Given the description of an element on the screen output the (x, y) to click on. 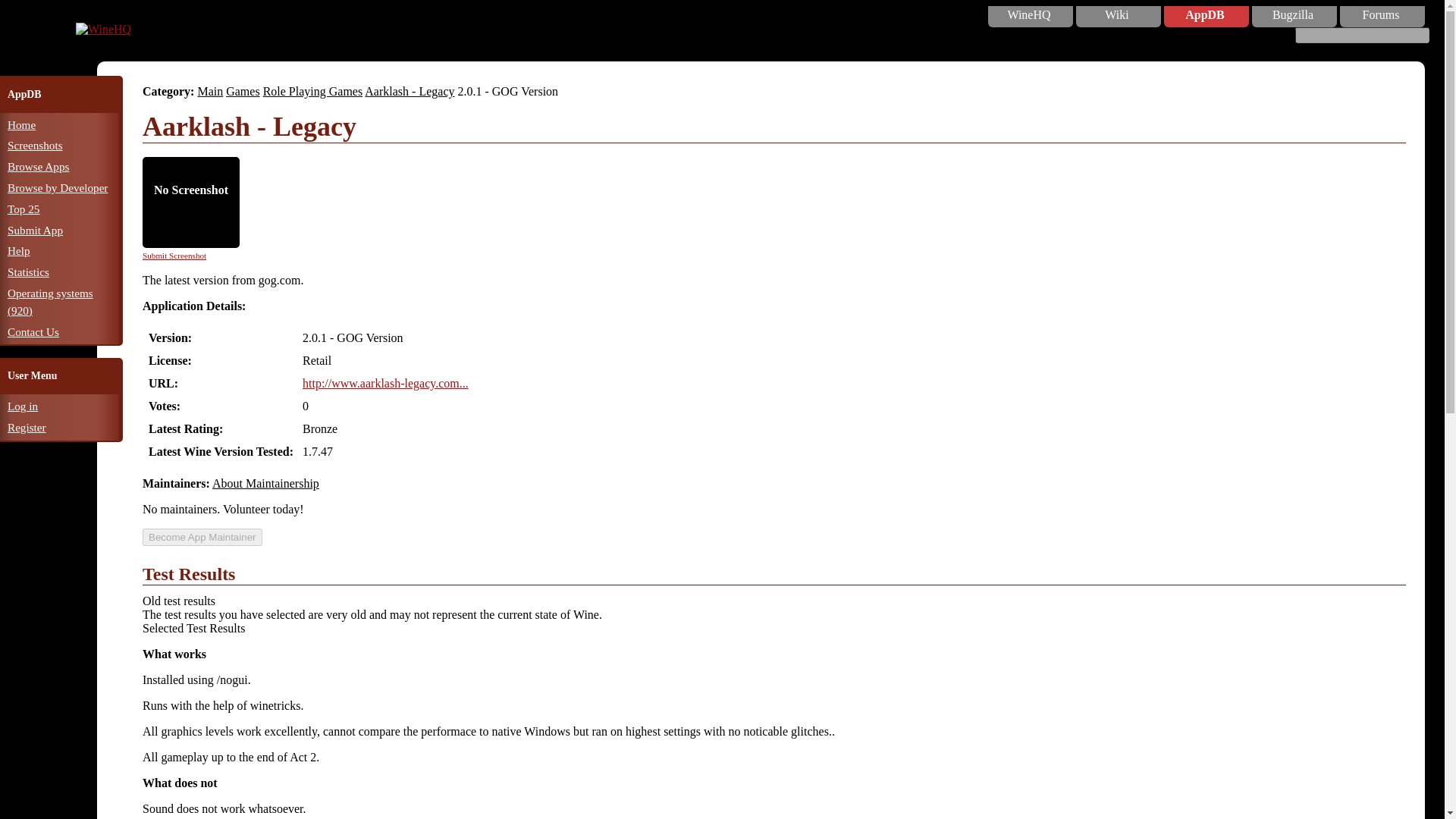
Become App Maintainer (202, 537)
Main (209, 91)
AppDB (1204, 15)
Top 25 (23, 208)
Contact Us (33, 331)
Help (18, 250)
WineHQ (103, 29)
Log in (22, 405)
Browse by Developer (57, 187)
Statistics (28, 271)
Test Results (774, 574)
Register (26, 427)
Browse Apps (37, 165)
Screenshots (34, 144)
Role Playing Games (312, 91)
